Given the description of an element on the screen output the (x, y) to click on. 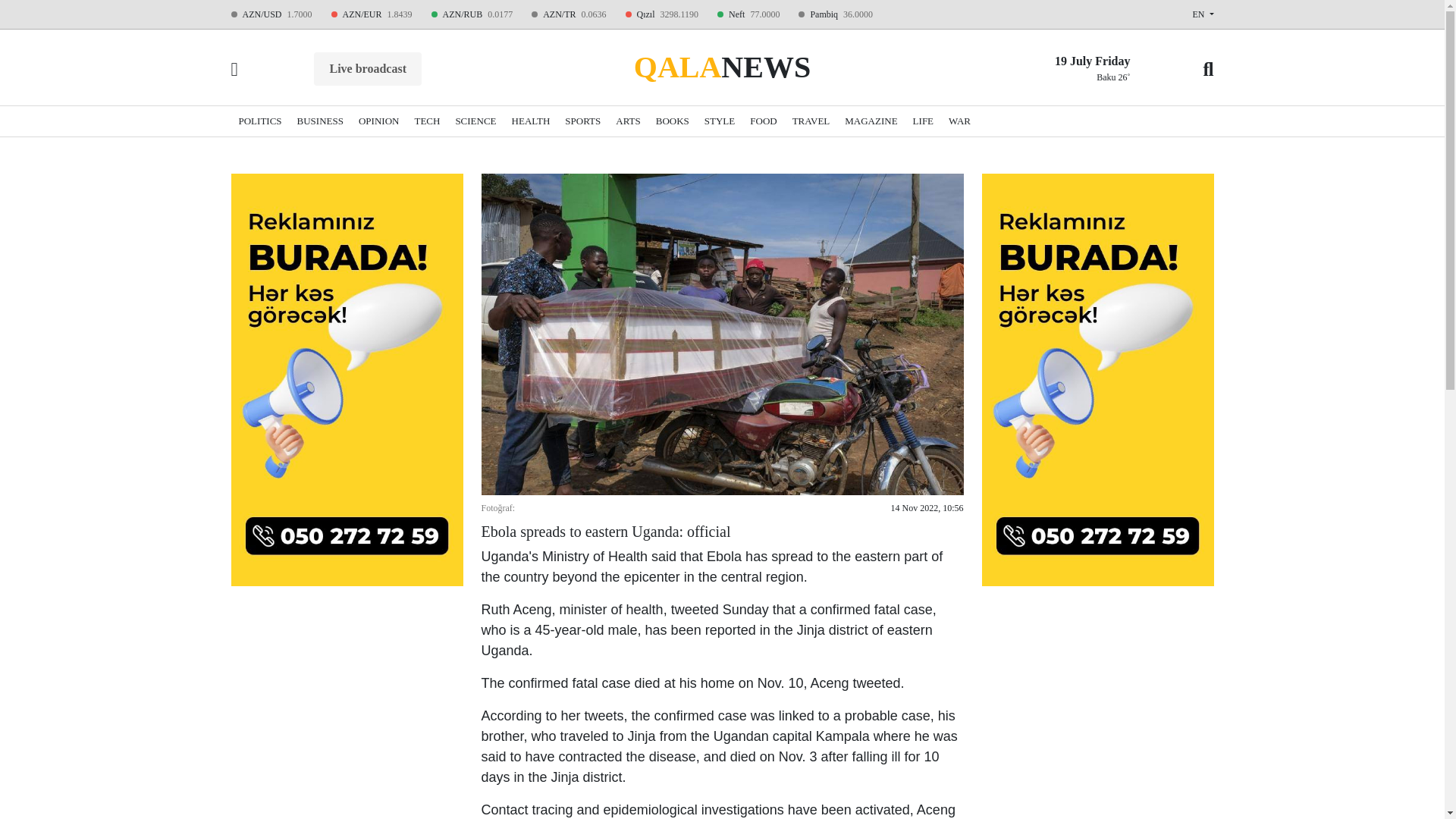
Live broadcast (367, 68)
